Given the description of an element on the screen output the (x, y) to click on. 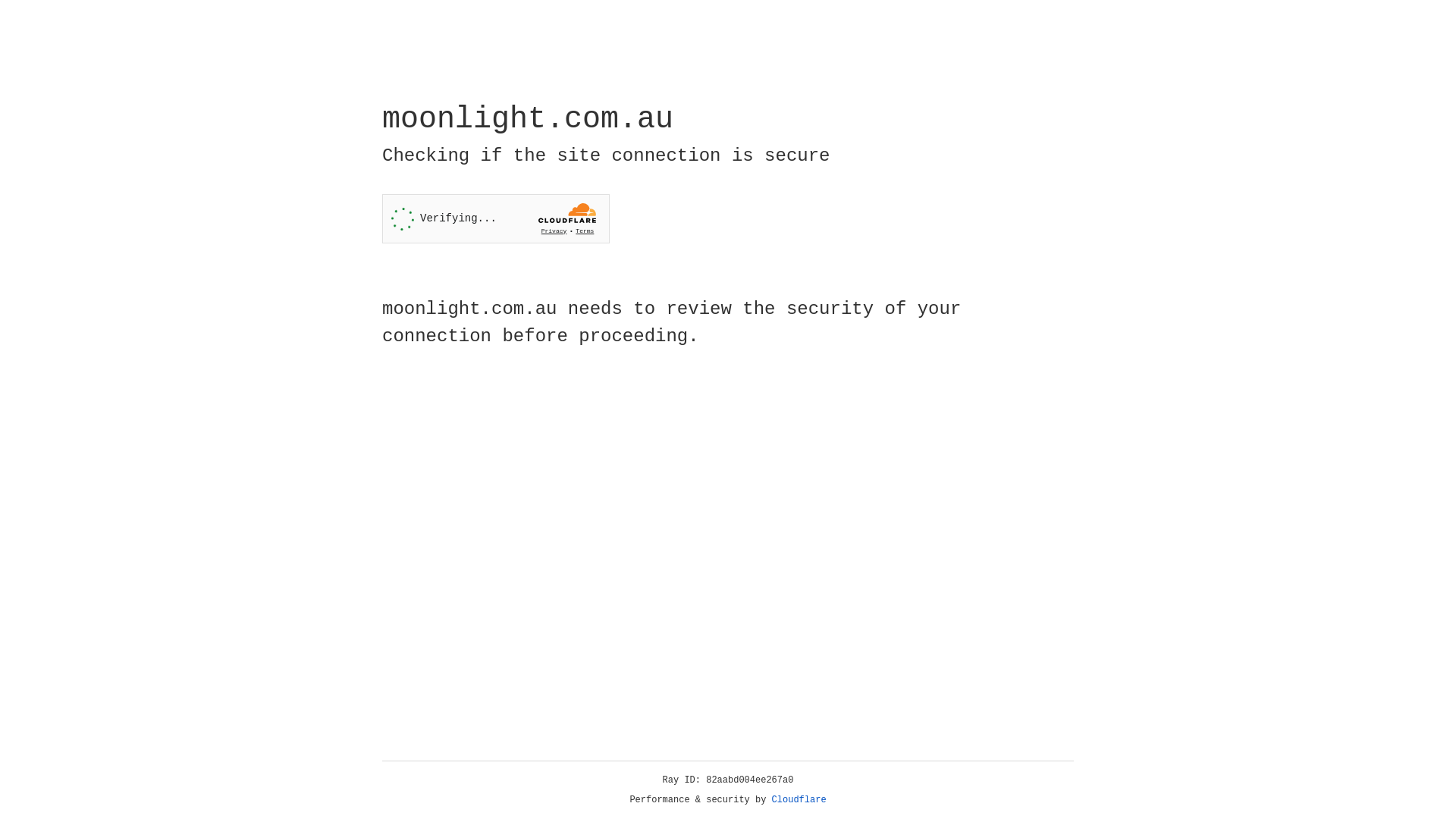
Cloudflare Element type: text (798, 799)
Widget containing a Cloudflare security challenge Element type: hover (495, 218)
